Given the description of an element on the screen output the (x, y) to click on. 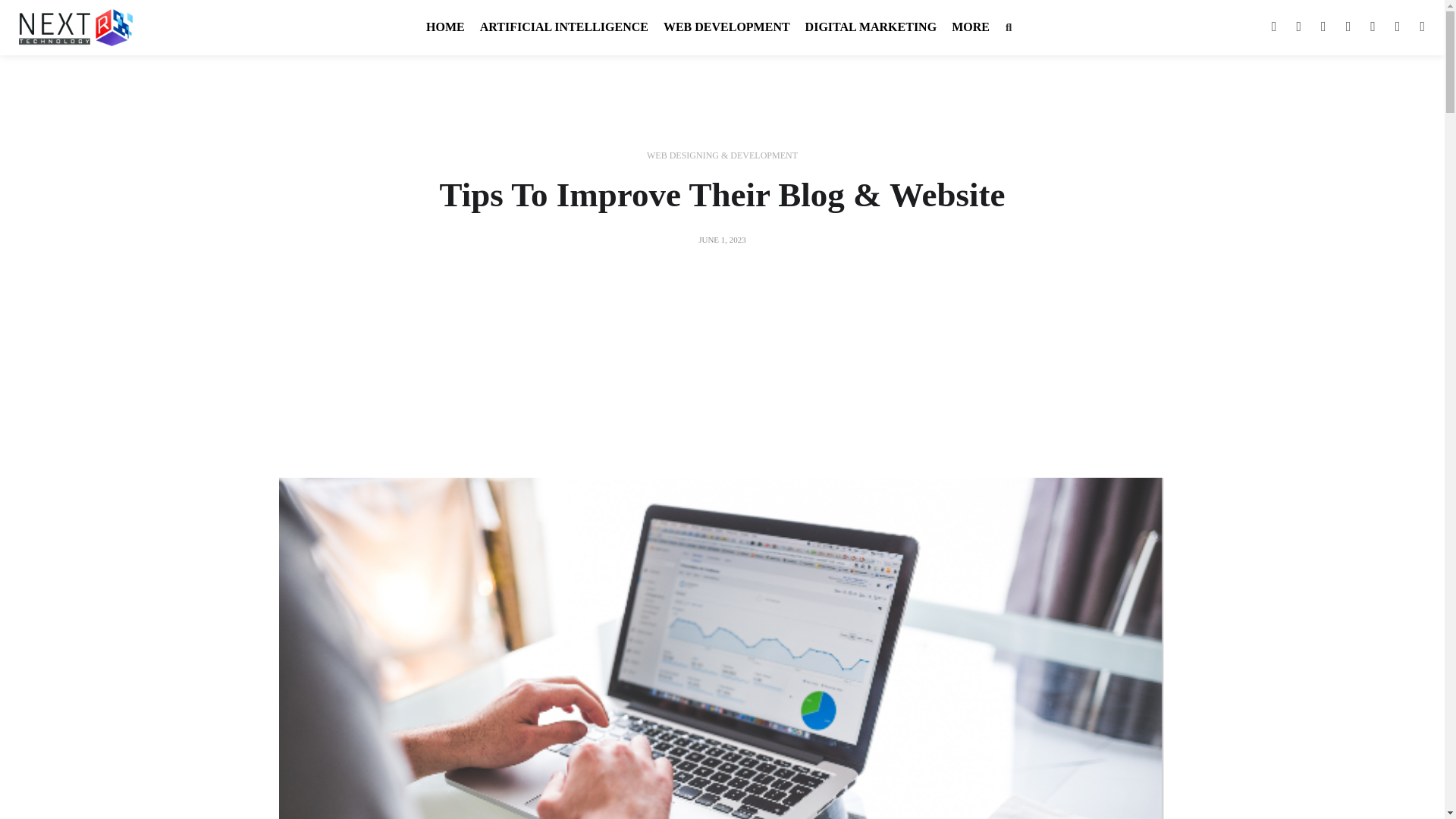
DIGITAL MARKETING (870, 27)
WEB DEVELOPMENT (726, 27)
MORE (970, 27)
ARTIFICIAL INTELLIGENCE (564, 27)
HOME (446, 27)
